Given the description of an element on the screen output the (x, y) to click on. 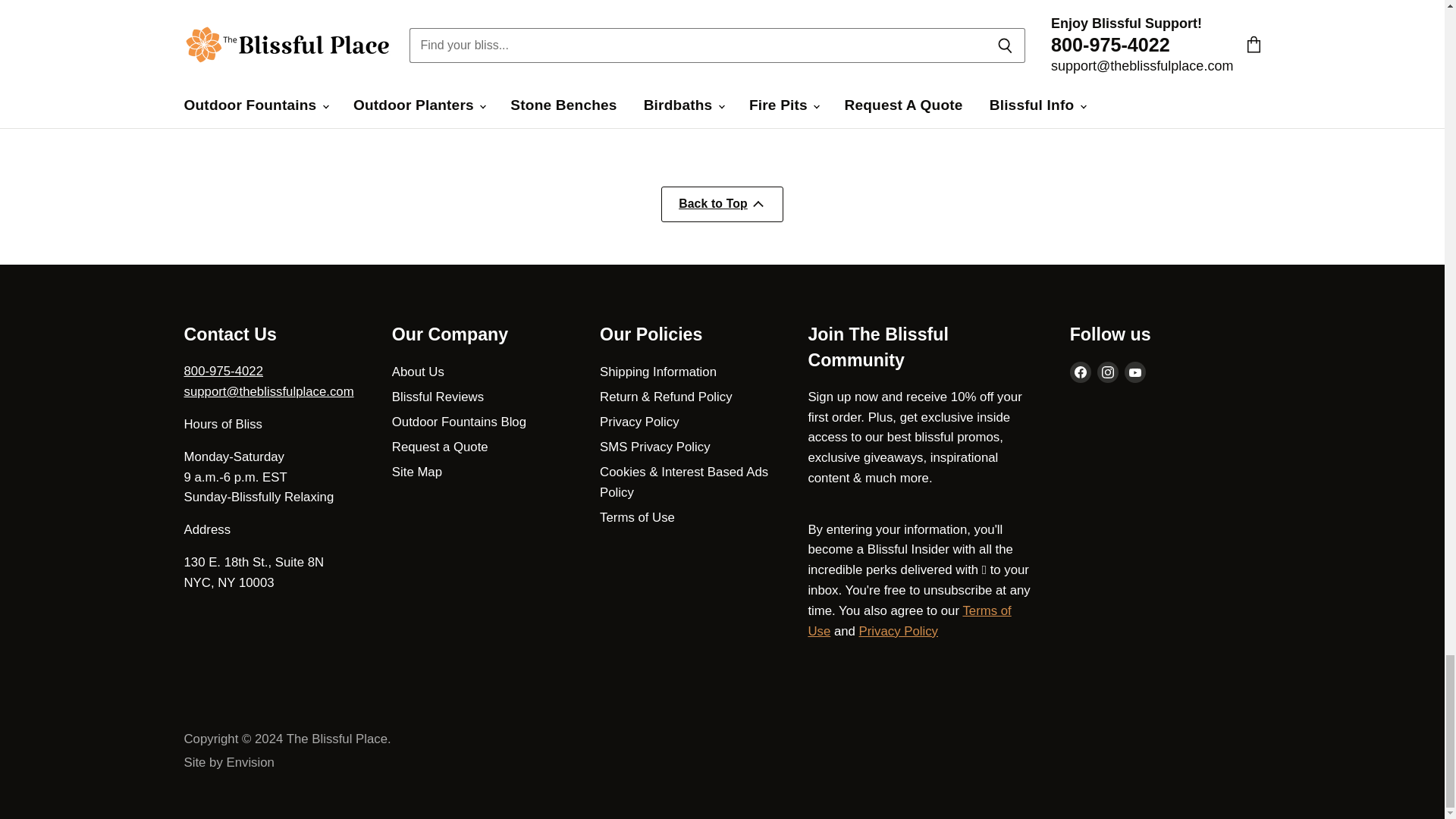
Instagram (1107, 371)
YouTube (1134, 371)
Facebook (1080, 371)
tel:800-975-4022 (223, 370)
